Given the description of an element on the screen output the (x, y) to click on. 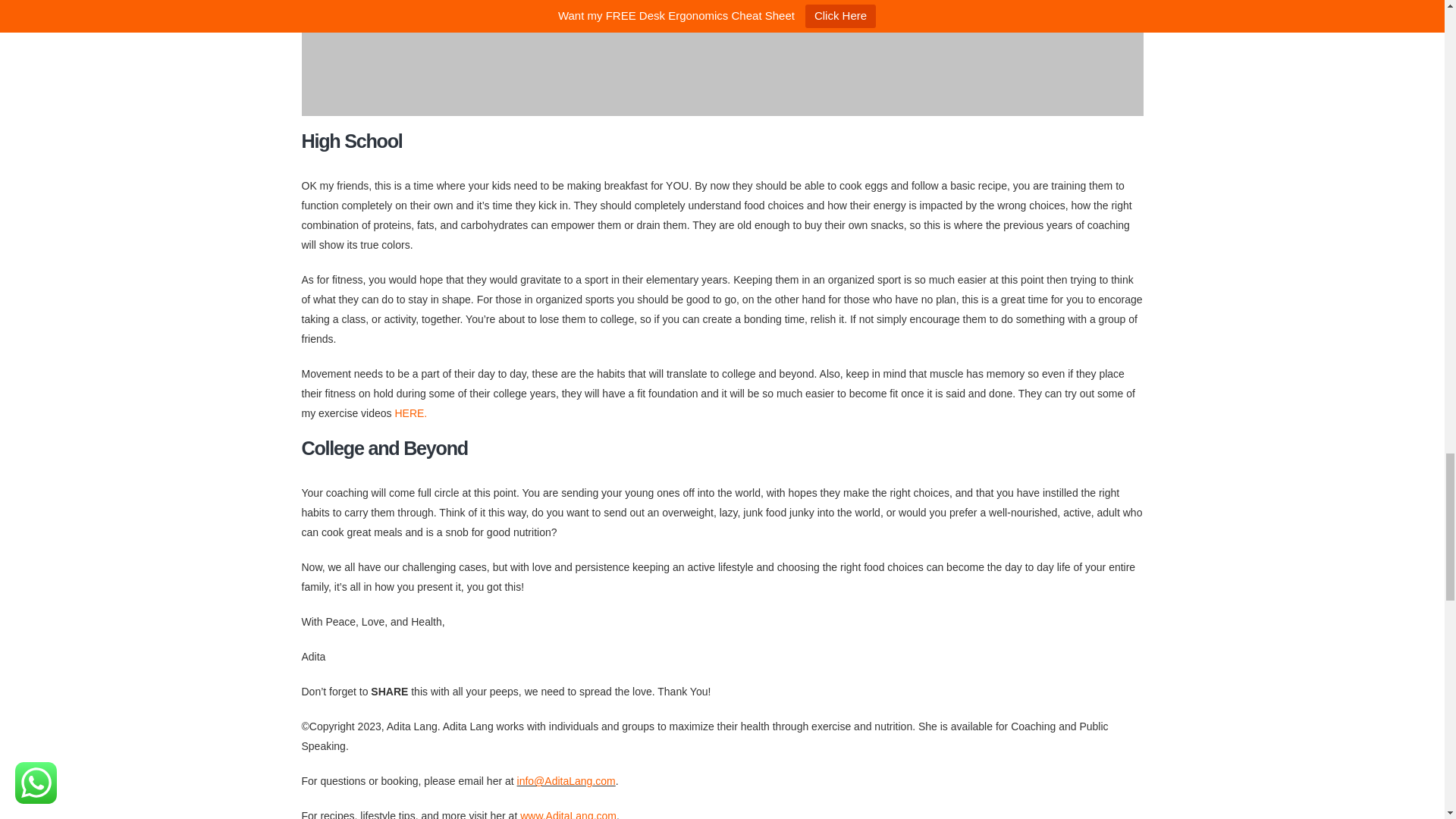
www.AditaLang.com (567, 814)
HERE. (410, 413)
